Given the description of an element on the screen output the (x, y) to click on. 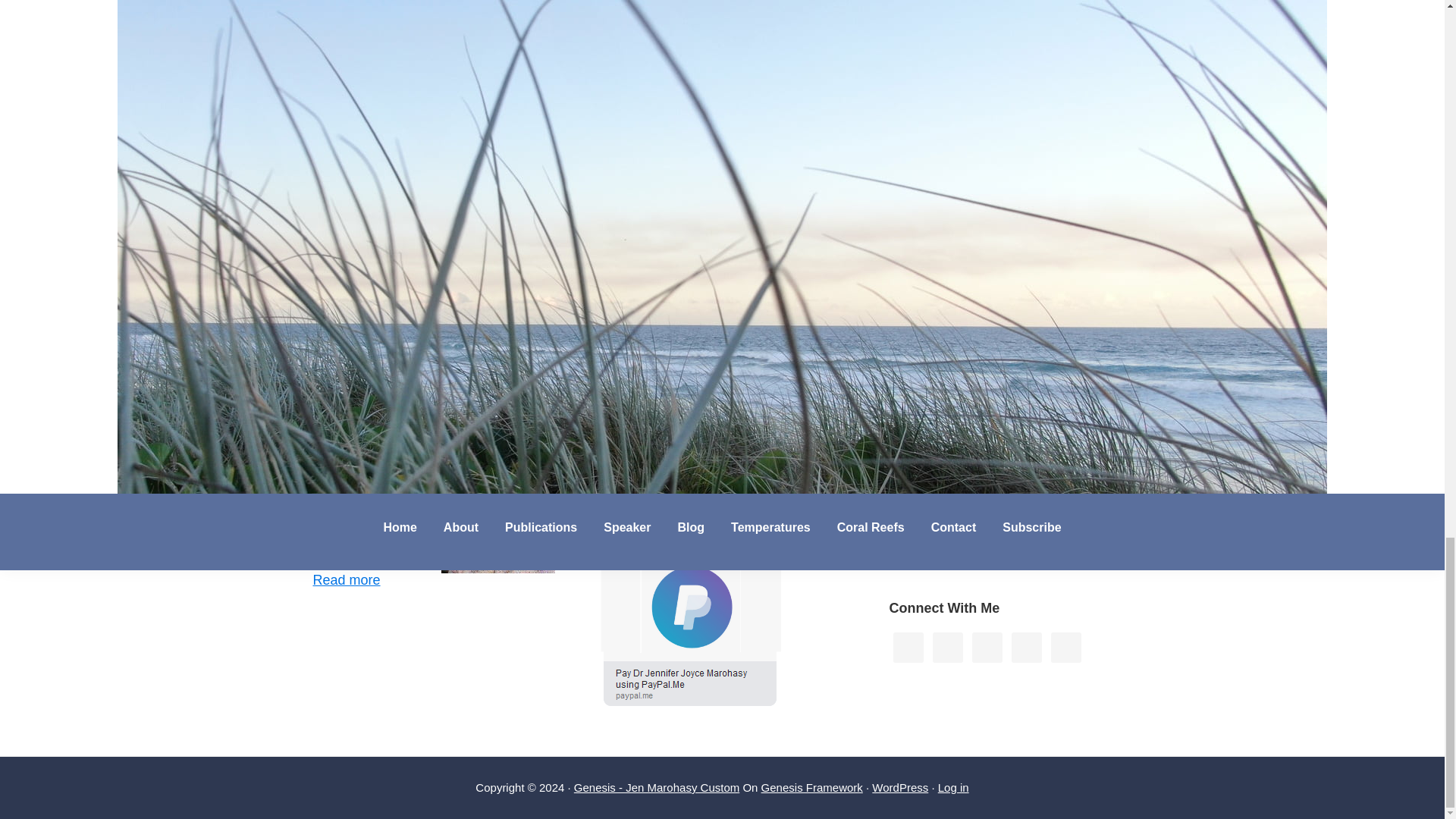
Wednesday (968, 16)
Friday (1041, 16)
Thursday (1005, 16)
Tuesday (933, 16)
Monday (899, 16)
Sunday (1114, 16)
Saturday (1077, 16)
